Given the description of an element on the screen output the (x, y) to click on. 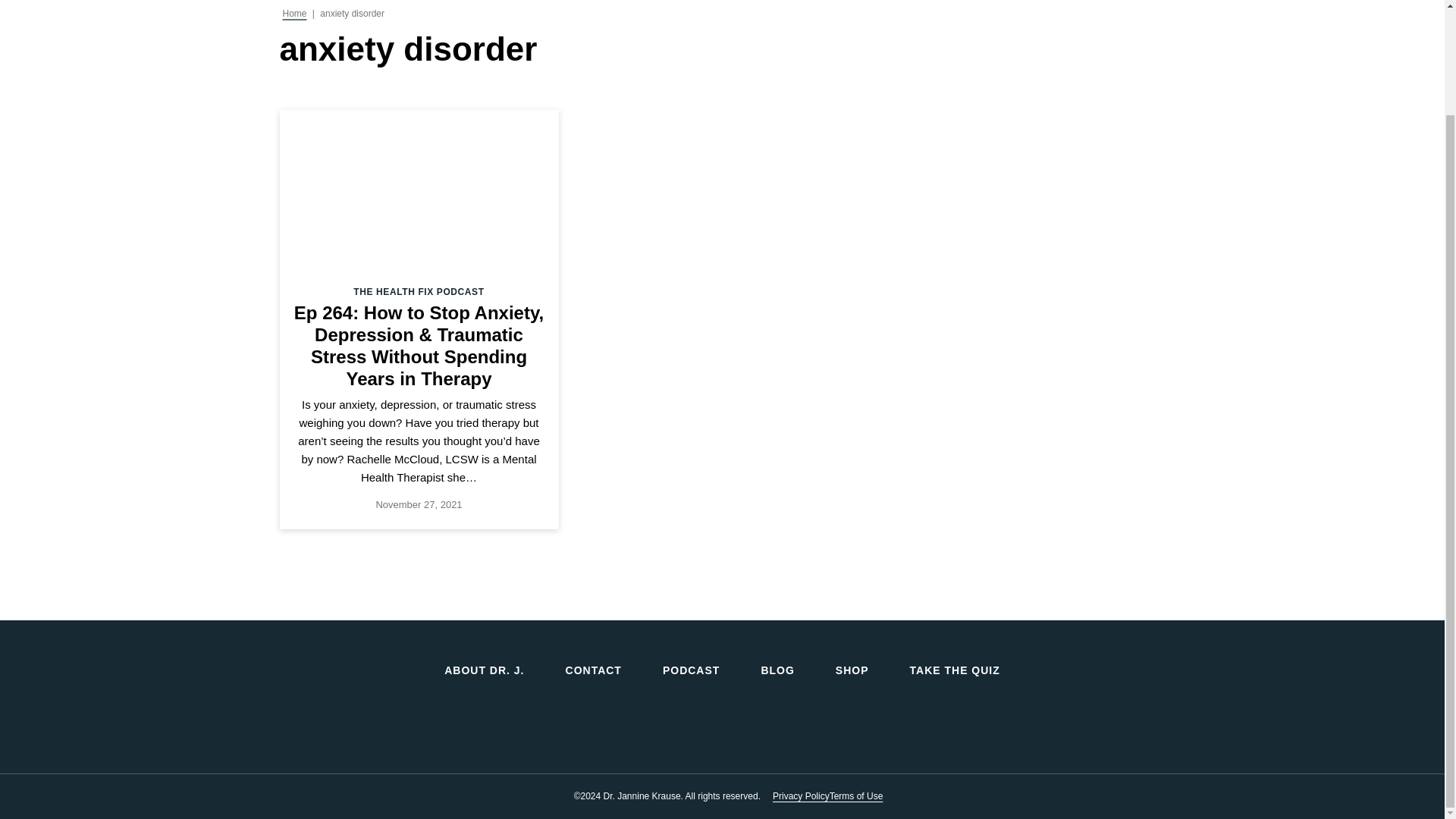
CONTACT (593, 669)
Terms of Use (856, 796)
THE HEALTH FIX PODCAST (418, 291)
ABOUT DR. J. (484, 669)
SHOP (852, 669)
PODCAST (690, 669)
TAKE THE QUIZ (954, 669)
BLOG (776, 669)
Home (293, 13)
Privacy Policy (801, 796)
